Given the description of an element on the screen output the (x, y) to click on. 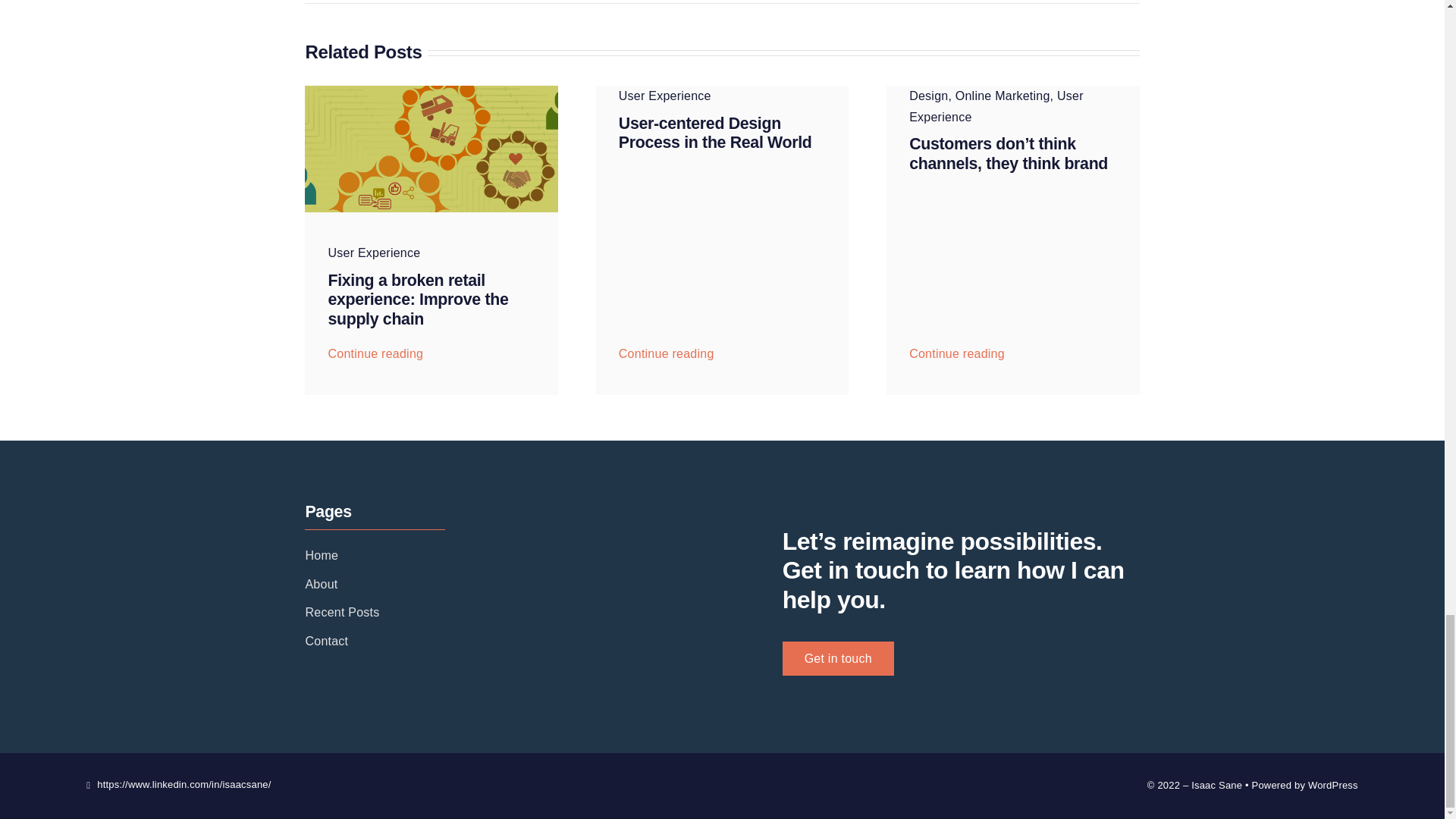
Design (927, 95)
Fixing a broken retail experience: Improve the supply chain (417, 299)
Continue reading (374, 348)
User Experience (373, 252)
User Experience (664, 95)
User Experience (373, 252)
Continue reading (665, 348)
User-centered Design Process in the Real World (715, 133)
User Experience (664, 95)
